Given the description of an element on the screen output the (x, y) to click on. 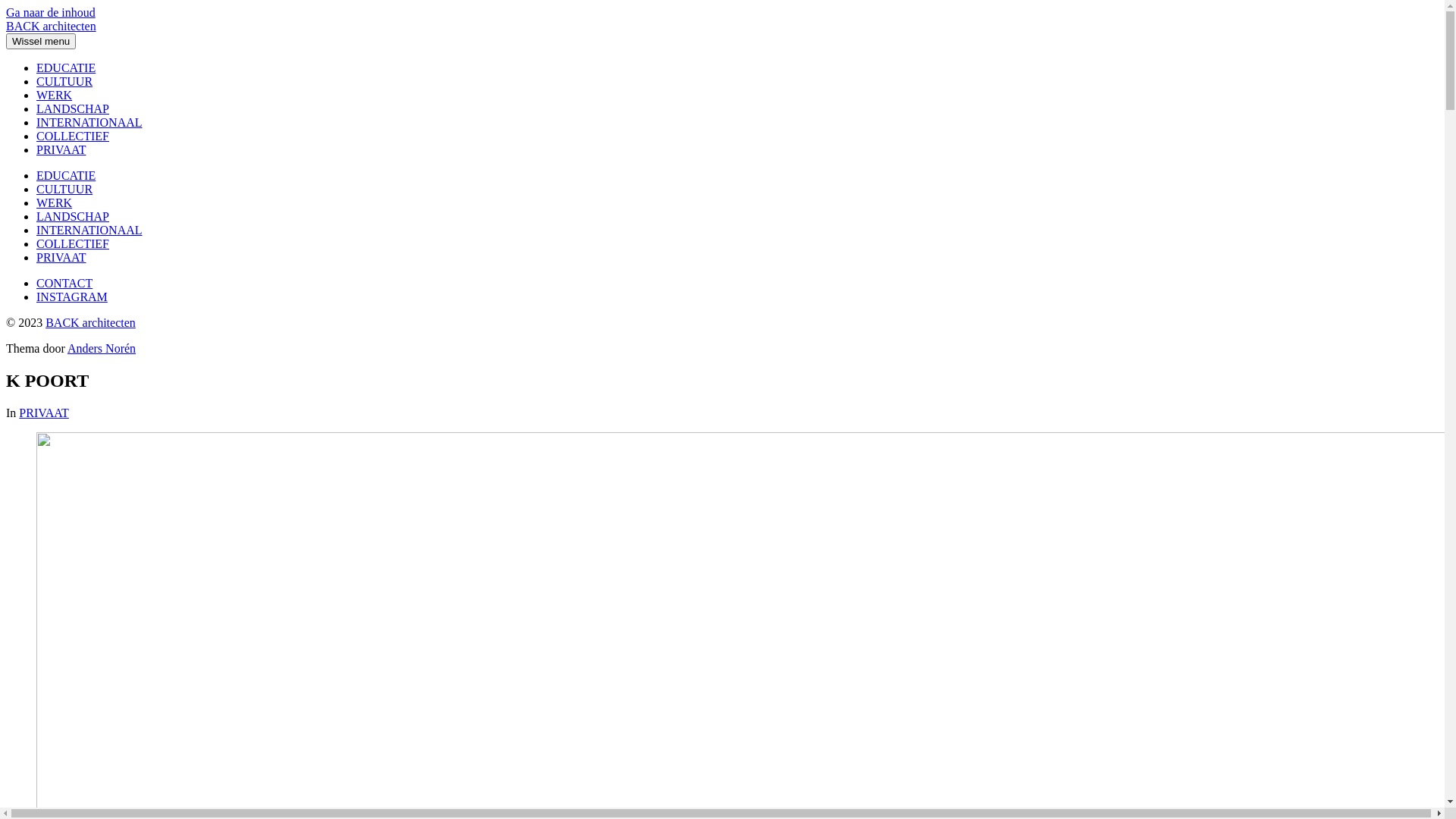
INTERNATIONAAL Element type: text (89, 229)
Ga naar de inhoud Element type: text (50, 12)
PRIVAAT Element type: text (43, 412)
EDUCATIE Element type: text (65, 67)
PRIVAAT Element type: text (61, 257)
BACK architecten Element type: text (90, 322)
COLLECTIEF Element type: text (72, 135)
BACK architecten Element type: text (51, 25)
WERK Element type: text (54, 202)
EDUCATIE Element type: text (65, 175)
LANDSCHAP Element type: text (72, 108)
LANDSCHAP Element type: text (72, 216)
WERK Element type: text (54, 94)
INSTAGRAM Element type: text (71, 296)
Wissel menu Element type: text (40, 41)
CONTACT Element type: text (64, 282)
PRIVAAT Element type: text (61, 149)
COLLECTIEF Element type: text (72, 243)
CULTUUR Element type: text (64, 81)
CULTUUR Element type: text (64, 188)
INTERNATIONAAL Element type: text (89, 122)
